Given the description of an element on the screen output the (x, y) to click on. 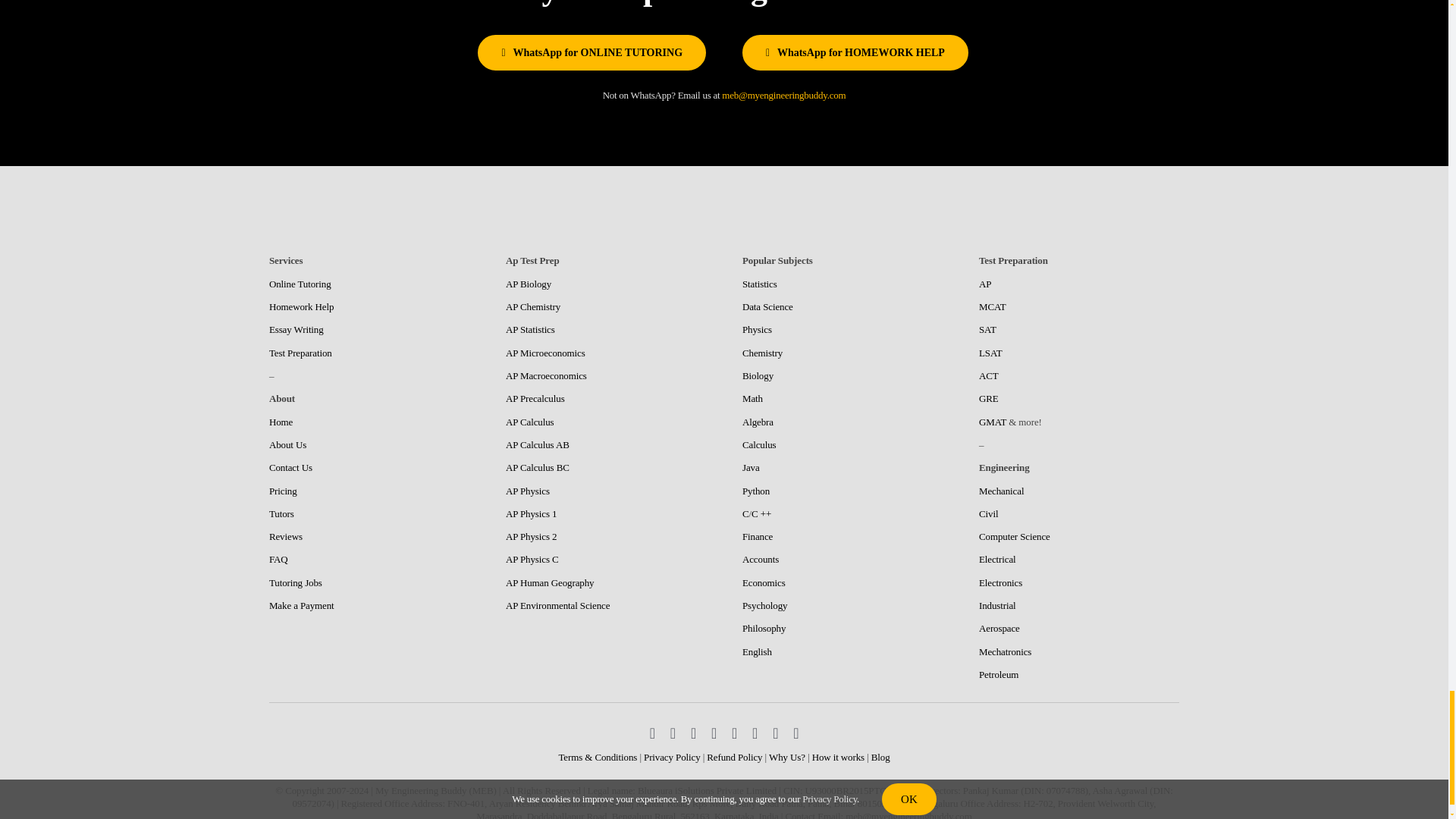
Pricing (283, 490)
Homework Help (301, 306)
FAQ (278, 559)
WhatsApp for HOMEWORK HELP (855, 52)
Online Tutoring (300, 283)
Tutors (281, 513)
AP Chemistry (532, 306)
AP Microeconomics (545, 352)
About Us (287, 444)
Tutoring Jobs (295, 582)
Essay Writing (296, 328)
Reviews (285, 536)
WhatsApp for ONLINE TUTORING (591, 52)
Home (280, 421)
Make a Payment (301, 604)
